Given the description of an element on the screen output the (x, y) to click on. 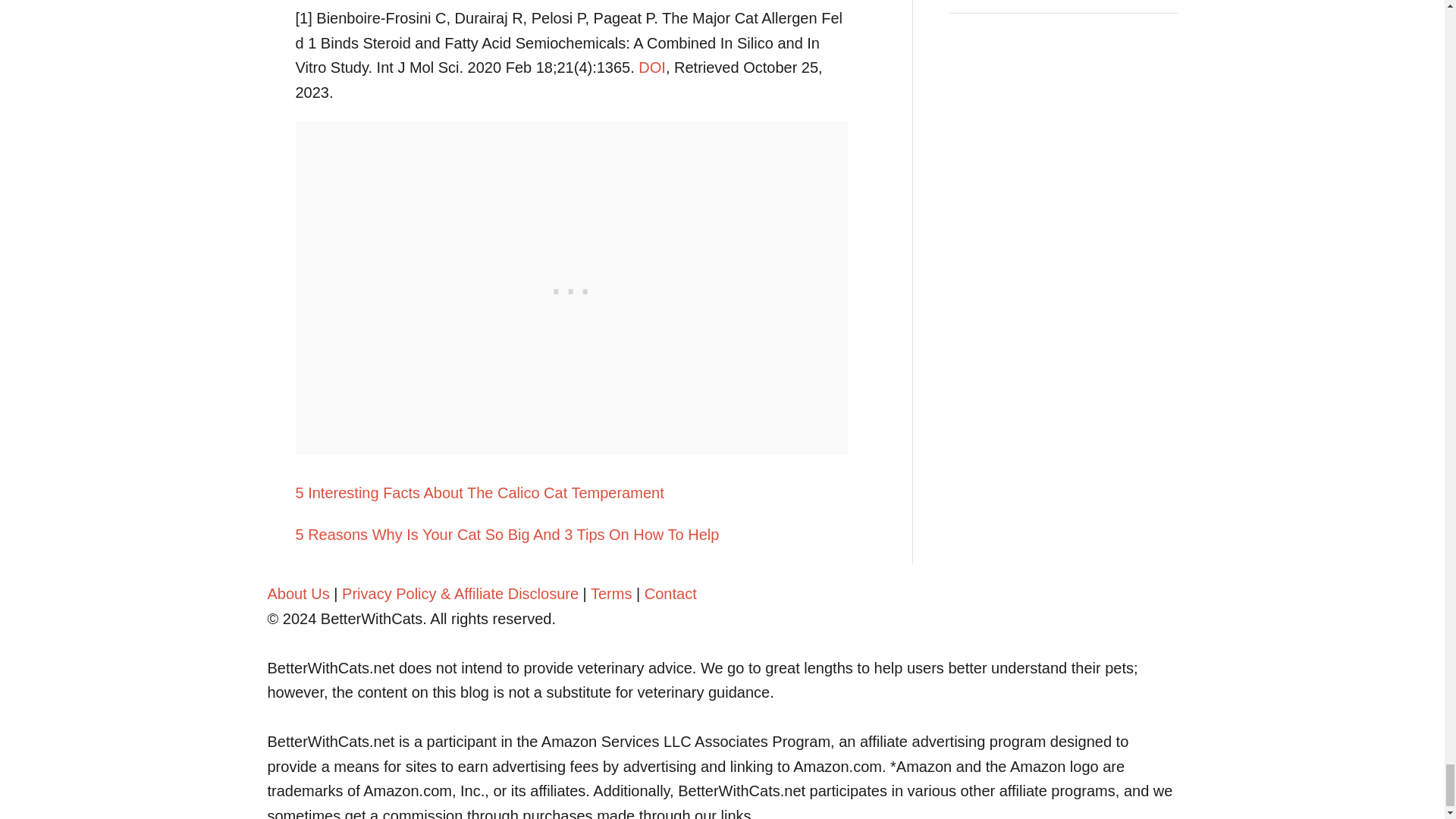
Contact (671, 593)
5 Reasons Why Is Your Cat So Big And 3 Tips On How To Help (571, 534)
About Us (297, 593)
Terms (611, 593)
5 Interesting Facts About The Calico Cat Temperament (571, 493)
DOI (652, 67)
